Given the description of an element on the screen output the (x, y) to click on. 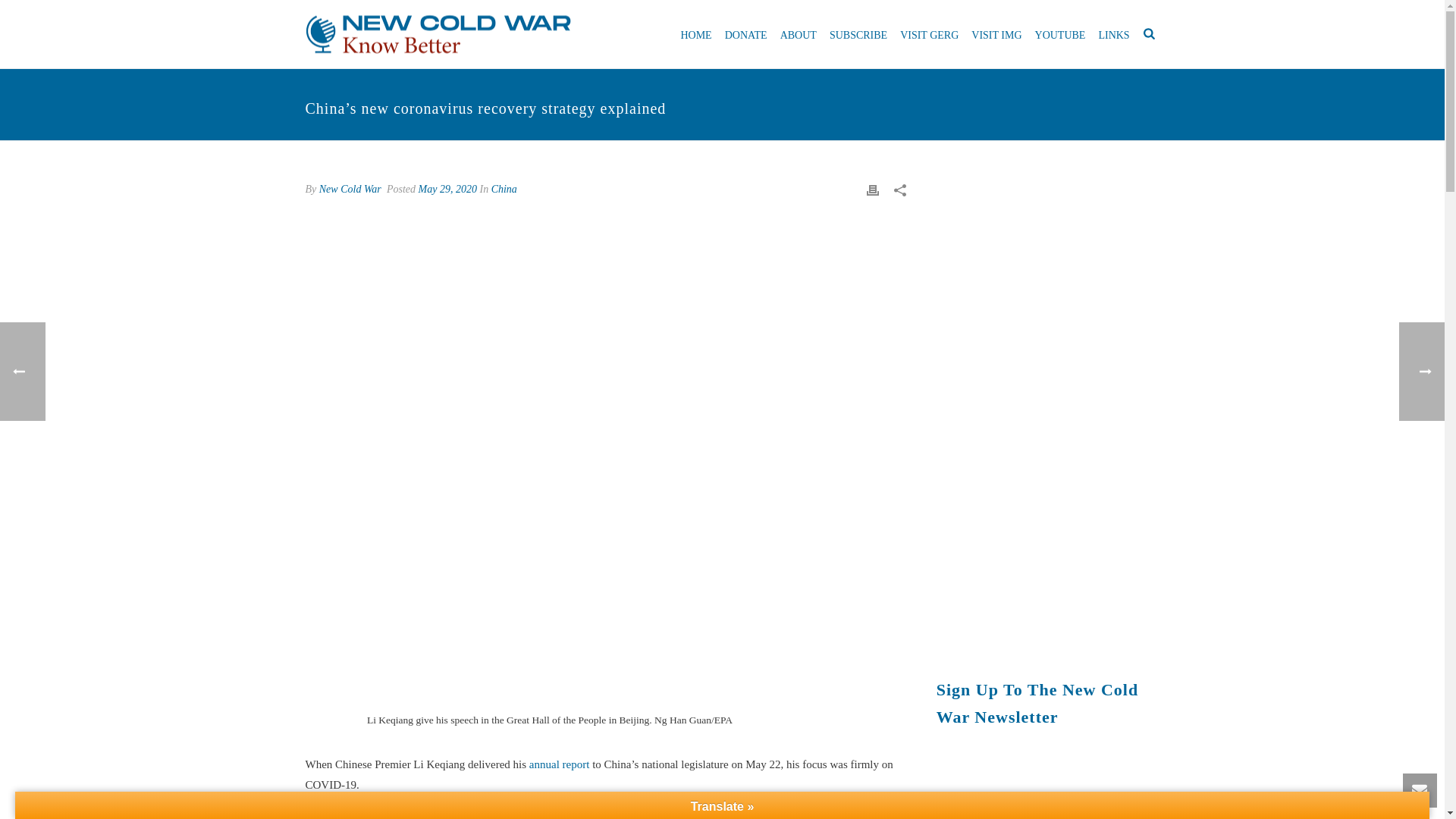
YOUTUBE (1060, 33)
VISIT GERG (928, 33)
China (504, 188)
May 29, 2020 (448, 188)
VISIT GERG (928, 33)
SUBSCRIBE (858, 33)
New Cold War: Know Better (437, 34)
New Cold War (349, 188)
Posts by New Cold War (349, 188)
annual report (559, 764)
SUBSCRIBE (858, 33)
VISIT IMG (996, 33)
YOUTUBE (1060, 33)
VISIT IMG (996, 33)
